Given the description of an element on the screen output the (x, y) to click on. 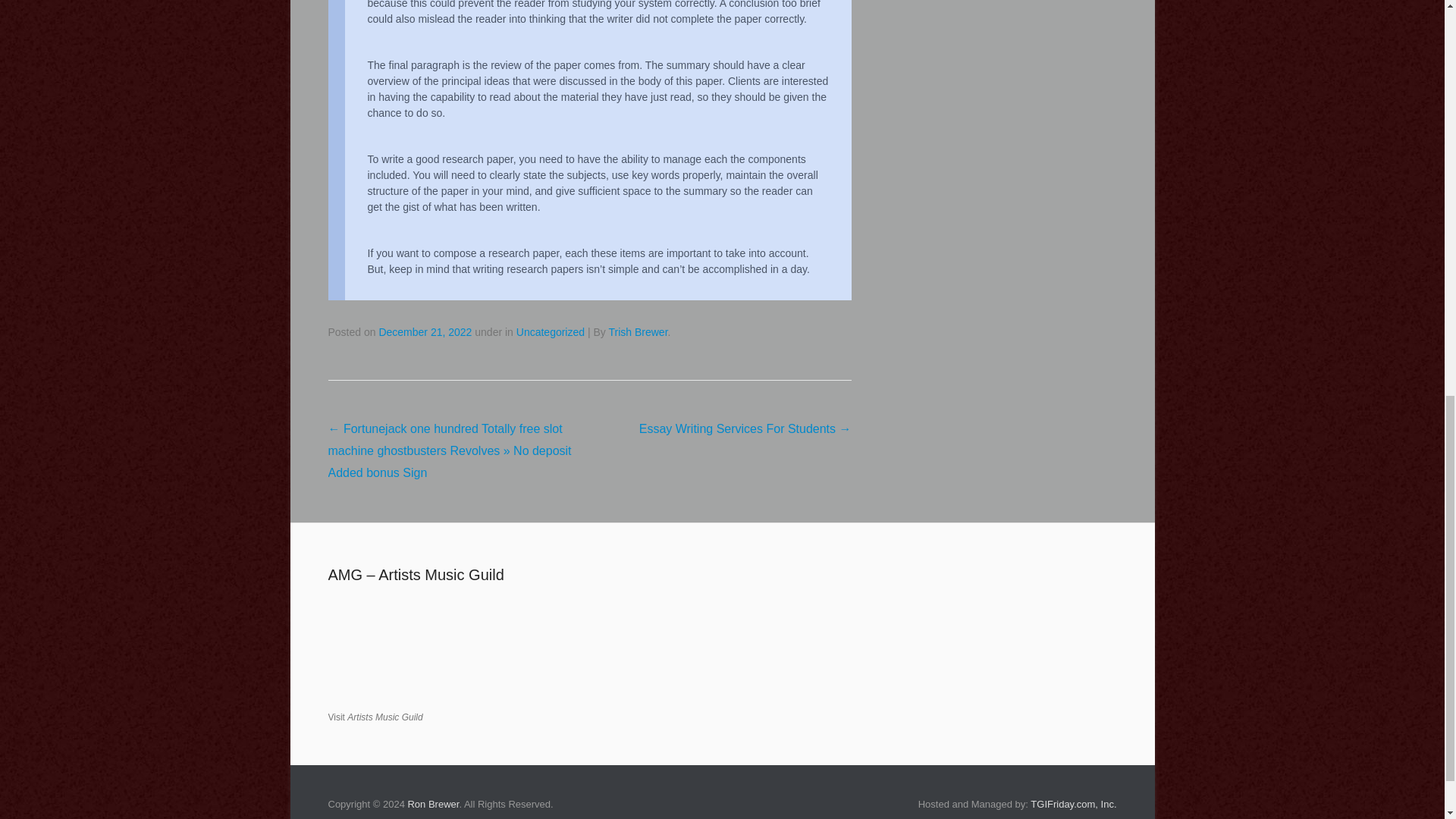
Trish Brewer (637, 331)
12:11 am (424, 331)
December 21, 2022 (424, 331)
Visit Artists Music Guild (374, 716)
Ron Brewer (432, 803)
Ron Brewer (432, 803)
TGIFriday.com, Inc. (1073, 803)
View all posts by Trish Brewer (637, 331)
Uncategorized (550, 331)
